Given the description of an element on the screen output the (x, y) to click on. 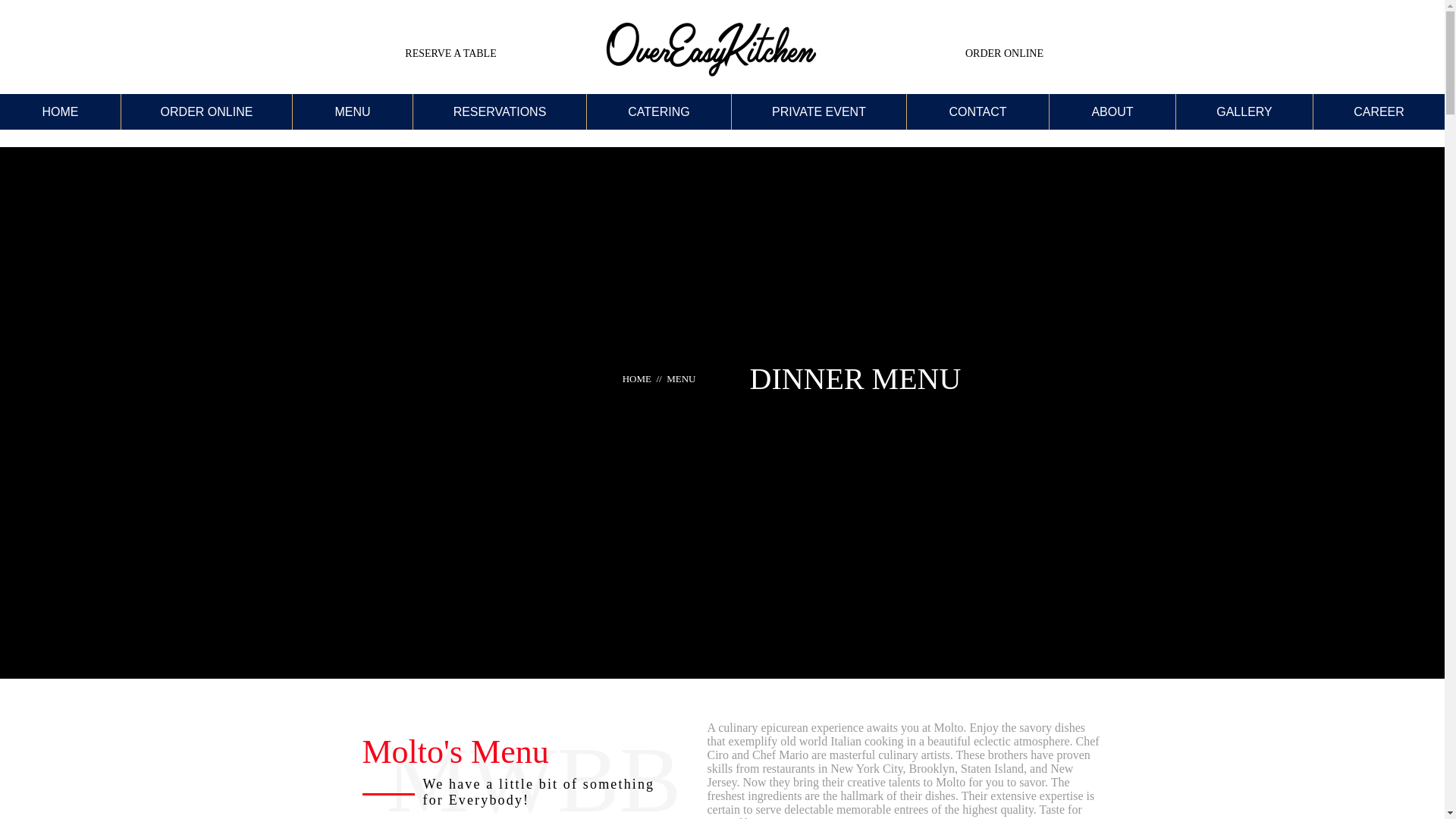
CATERING (658, 111)
ABOUT (1111, 111)
CONTACT (976, 111)
PRIVATE EVENT (817, 111)
RESERVE A TABLE (450, 52)
GALLERY (1243, 111)
HOME (60, 111)
MENU (352, 111)
HOME  (638, 378)
RESERVATIONS (499, 111)
ORDER ONLINE (206, 111)
ORDER ONLINE (1003, 52)
